Given the description of an element on the screen output the (x, y) to click on. 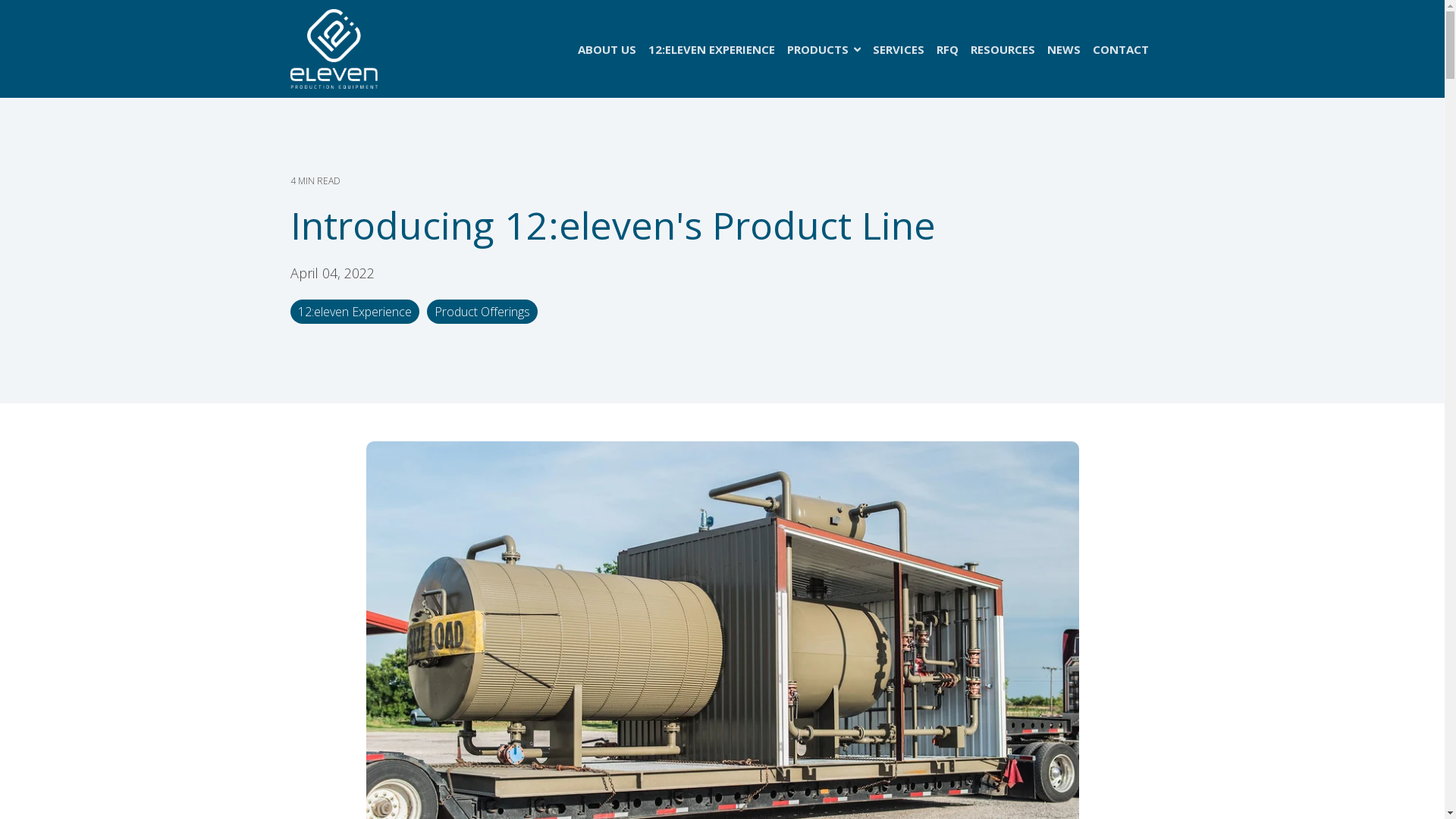
Skip to the main content. Element type: text (0, 0)
12:eleven Experience Element type: text (353, 311)
RFQ Element type: text (946, 49)
Product Offerings Element type: text (481, 311)
PRODUCTS Element type: text (823, 49)
NEWS Element type: text (1062, 49)
12eleven_logo_white Element type: hover (332, 48)
ABOUT US Element type: text (606, 49)
CONTACT Element type: text (1120, 49)
RESOURCES Element type: text (1002, 49)
12:ELEVEN EXPERIENCE Element type: text (710, 49)
SERVICES Element type: text (897, 49)
